Given the description of an element on the screen output the (x, y) to click on. 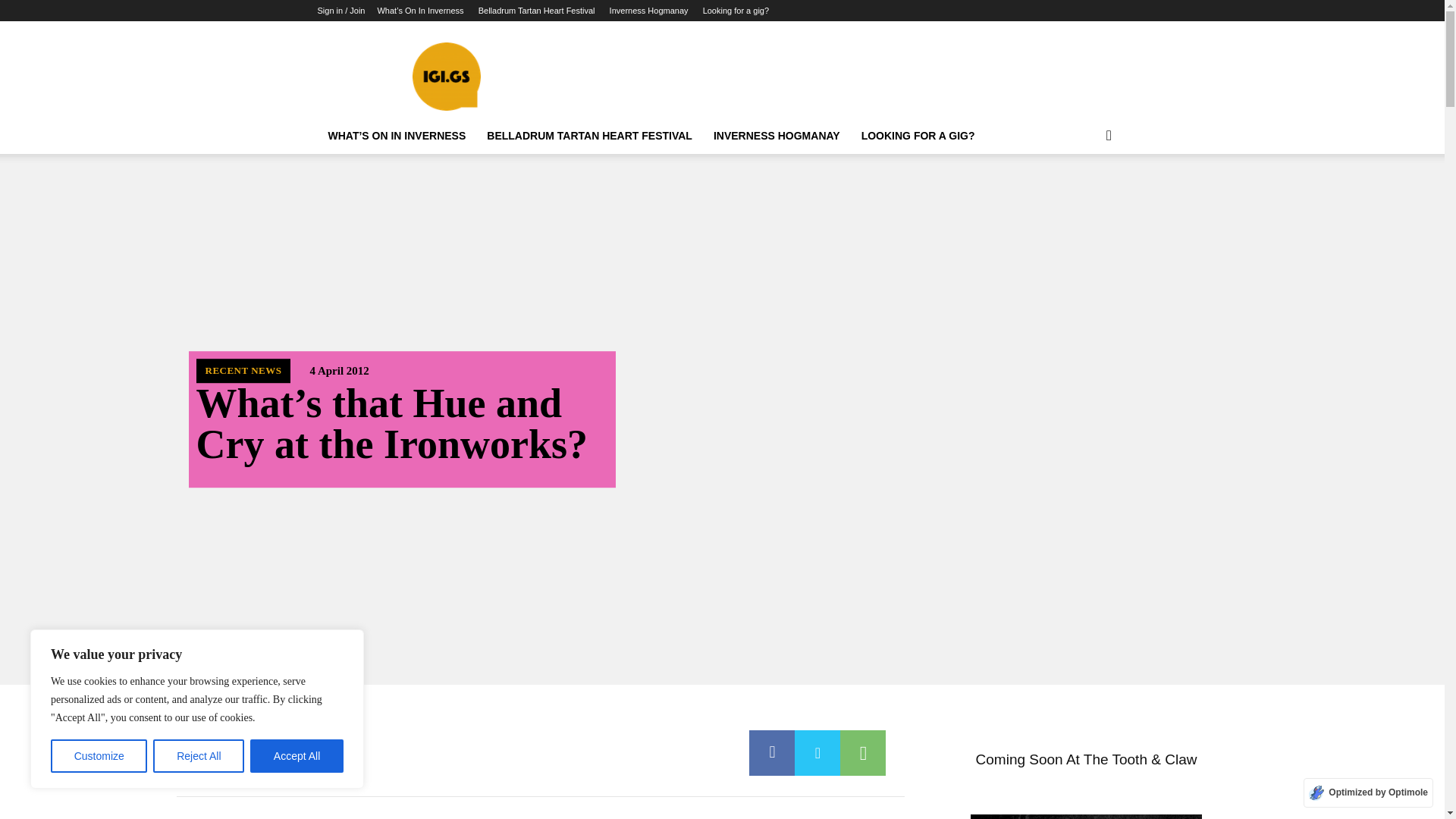
BELLADRUM TARTAN HEART FESTIVAL (589, 135)
LOOKING FOR A GIG? (917, 135)
WhatsApp (862, 752)
Search (1085, 196)
Advertisement (850, 76)
Inverness Hogmanay (649, 10)
Belladrum Tartan Heart Festival (537, 10)
RECENT NEWS (242, 370)
Facebook (771, 752)
Twitter (817, 752)
Reject All (198, 756)
Customize (98, 756)
Accept All (296, 756)
INVERNESS HOGMANAY (776, 135)
Looking for a gig? (735, 10)
